Given the description of an element on the screen output the (x, y) to click on. 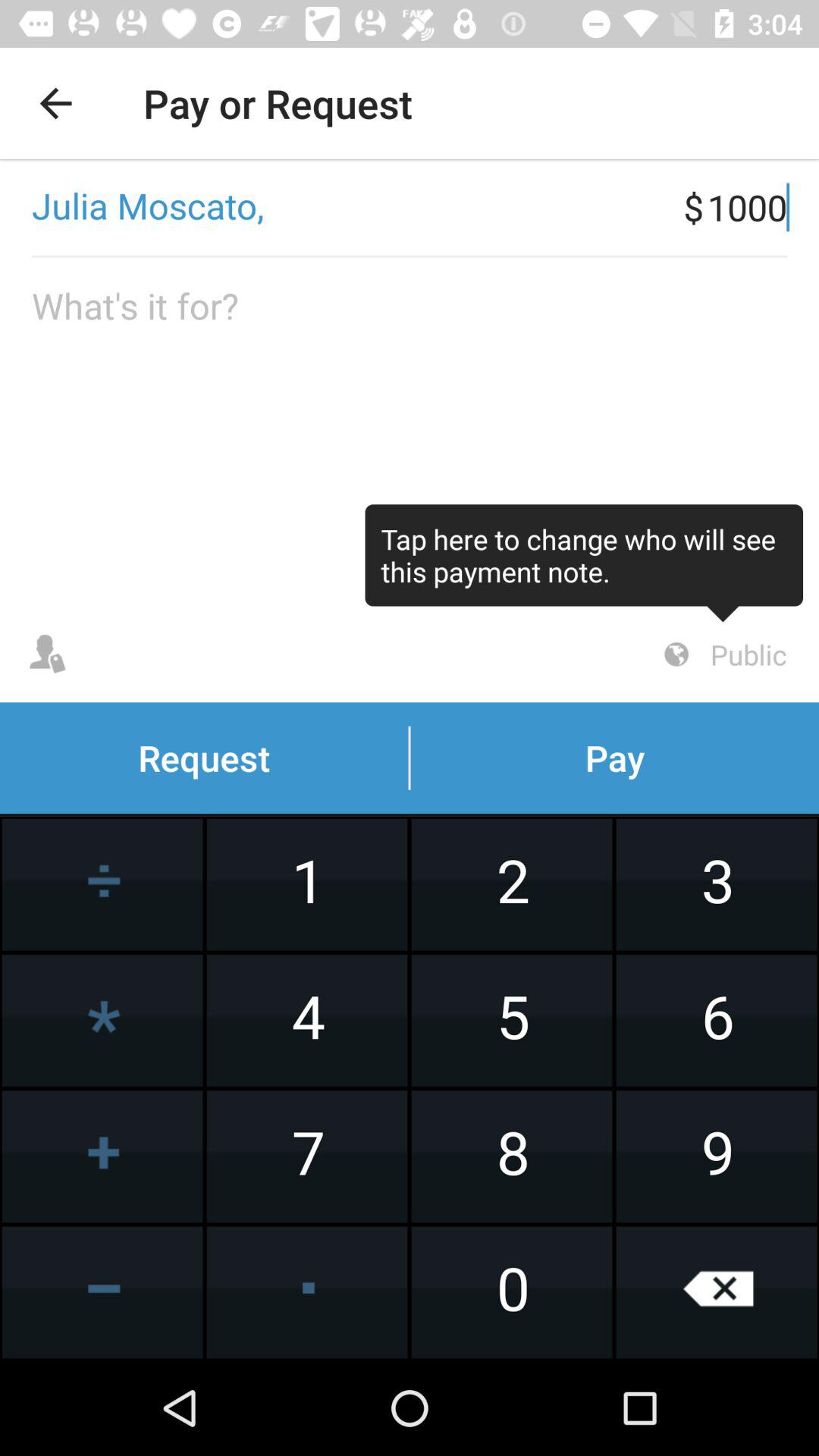
tap item above the request (584, 563)
